Given the description of an element on the screen output the (x, y) to click on. 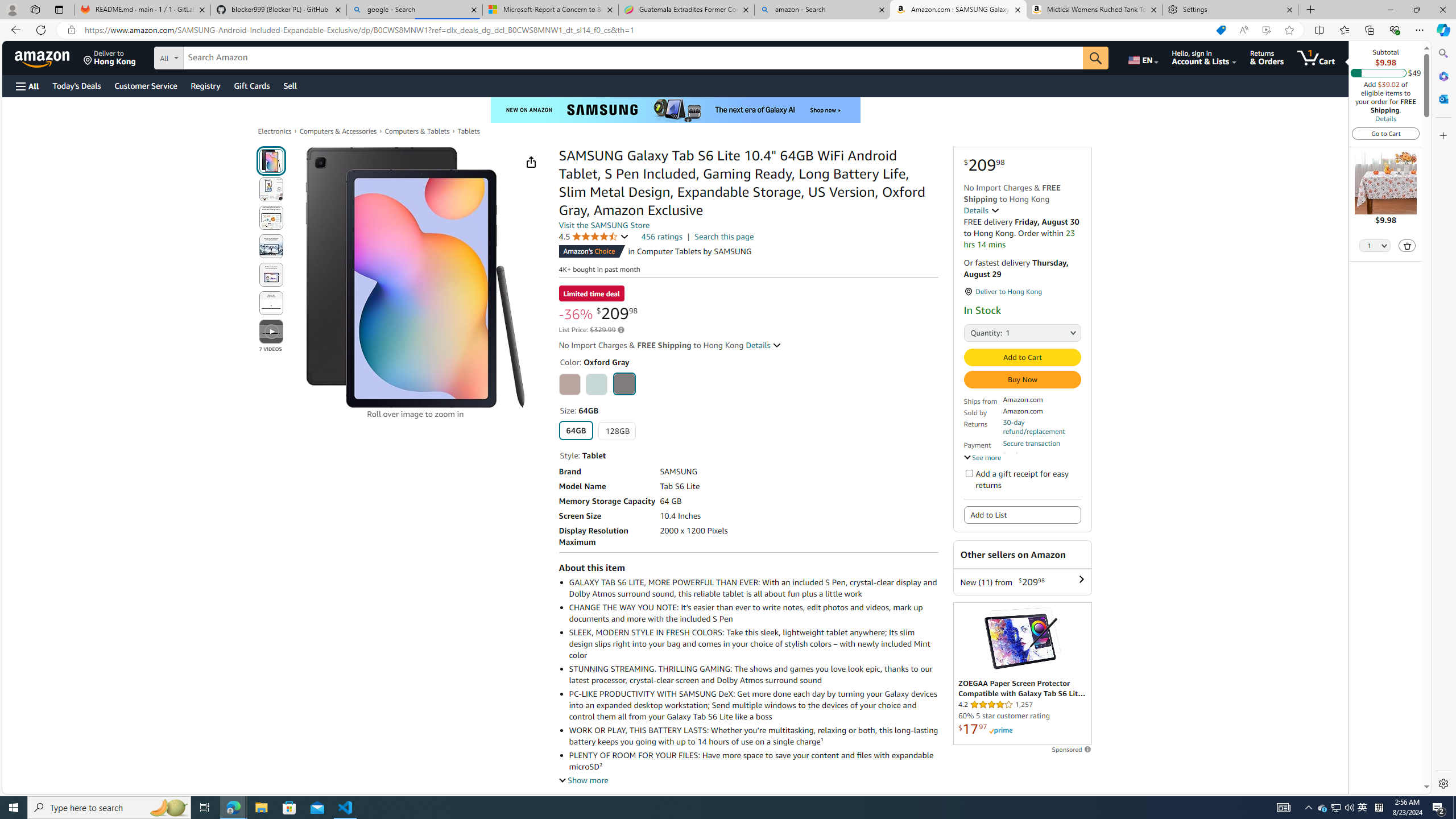
Computers & Accessories (337, 130)
